Given the description of an element on the screen output the (x, y) to click on. 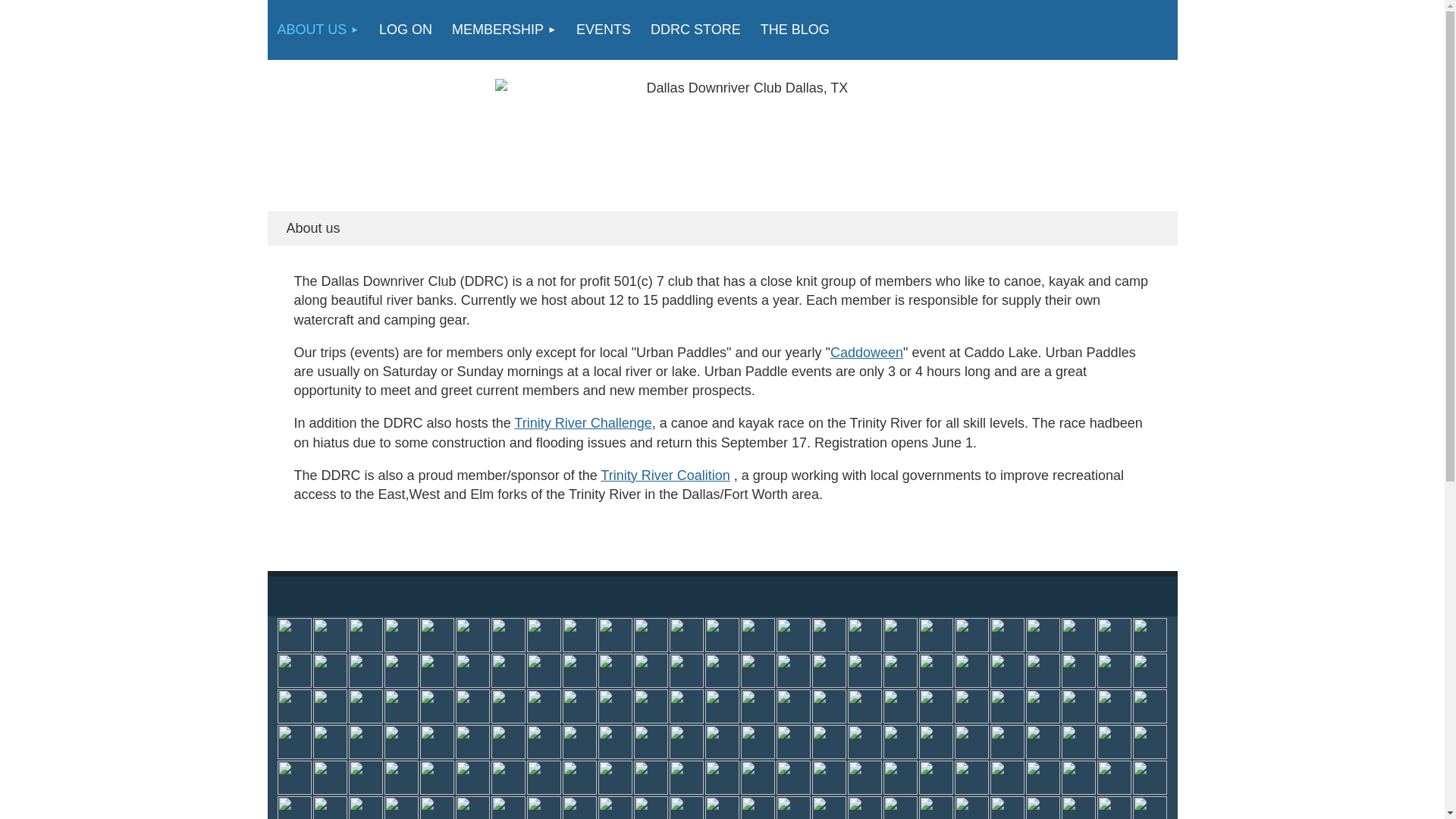
EVENTS (603, 29)
Trinity River Coalition (664, 475)
MEMBERSHIP (504, 29)
LOG ON (405, 29)
ABOUT US (317, 29)
THE BLOG (795, 29)
Caddoween (865, 352)
Trinity River Challenge (581, 422)
Log On (405, 29)
DDRC STORE (695, 29)
